Given the description of an element on the screen output the (x, y) to click on. 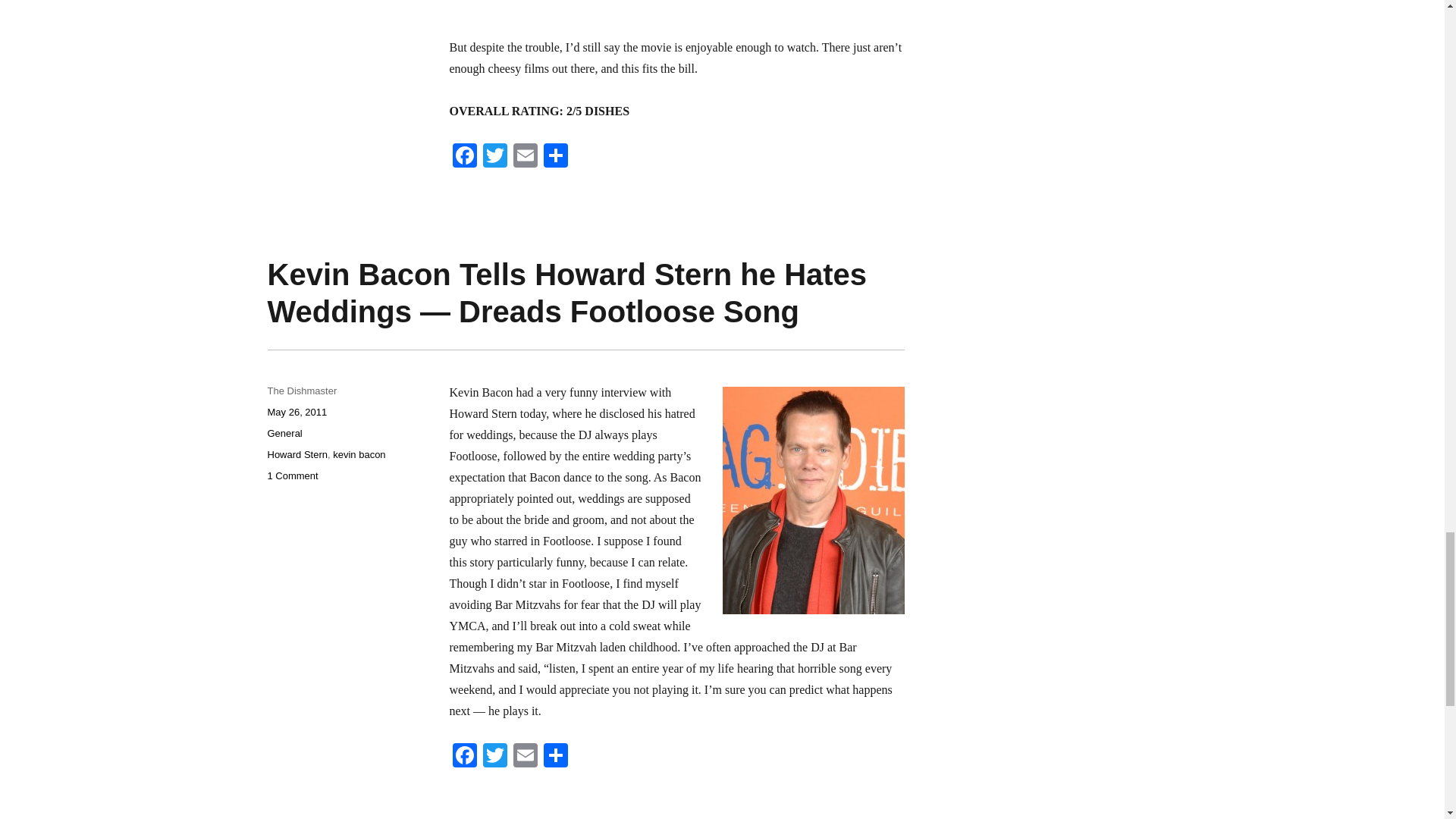
Twitter (494, 756)
Email (524, 756)
Email (524, 157)
Twitter (494, 157)
Facebook (463, 756)
Email (524, 157)
Facebook (463, 157)
Twitter (494, 157)
Facebook (463, 157)
